Given the description of an element on the screen output the (x, y) to click on. 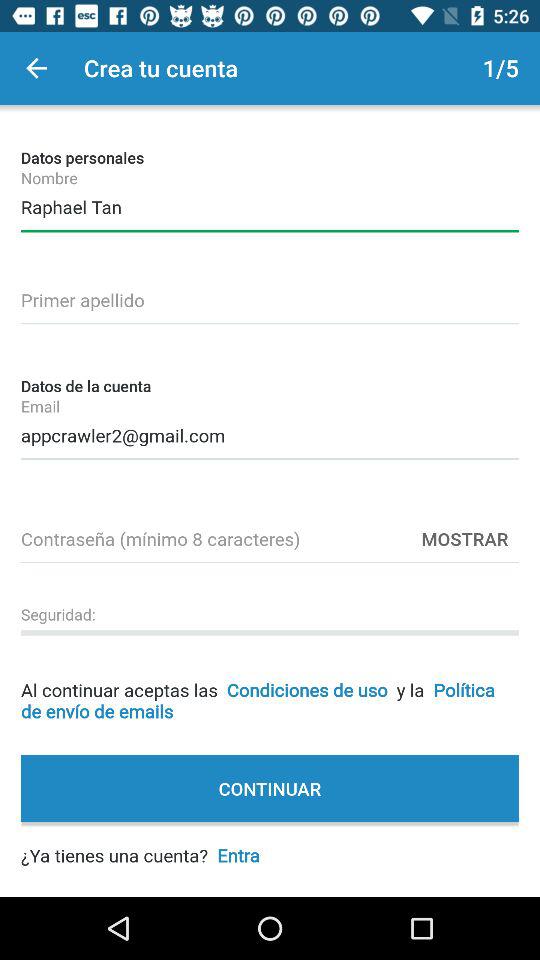
scroll to the al continuar aceptas icon (270, 684)
